Given the description of an element on the screen output the (x, y) to click on. 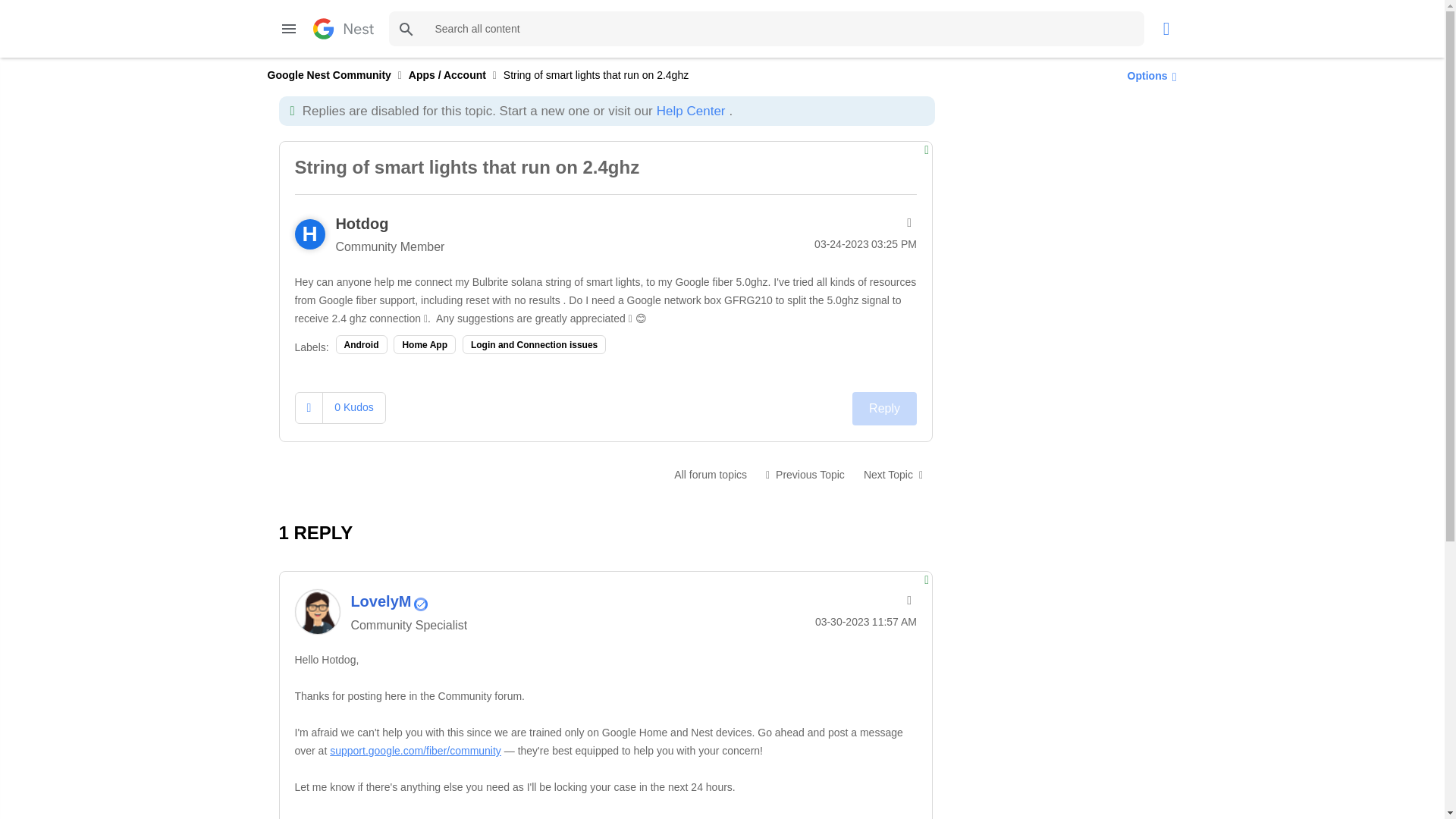
Show option menu (1147, 75)
Google Nest Community (342, 28)
The total number of kudos this post has received. (353, 407)
Search (405, 29)
Click here to give kudos to this post. (309, 407)
Home App (424, 343)
Schedules on Family WiFi keep disabling (804, 474)
Google Nest Community (328, 74)
Search (765, 28)
Community Specialist (420, 603)
Options (1147, 75)
Search (405, 29)
Android (361, 343)
Help Center (690, 110)
